Given the description of an element on the screen output the (x, y) to click on. 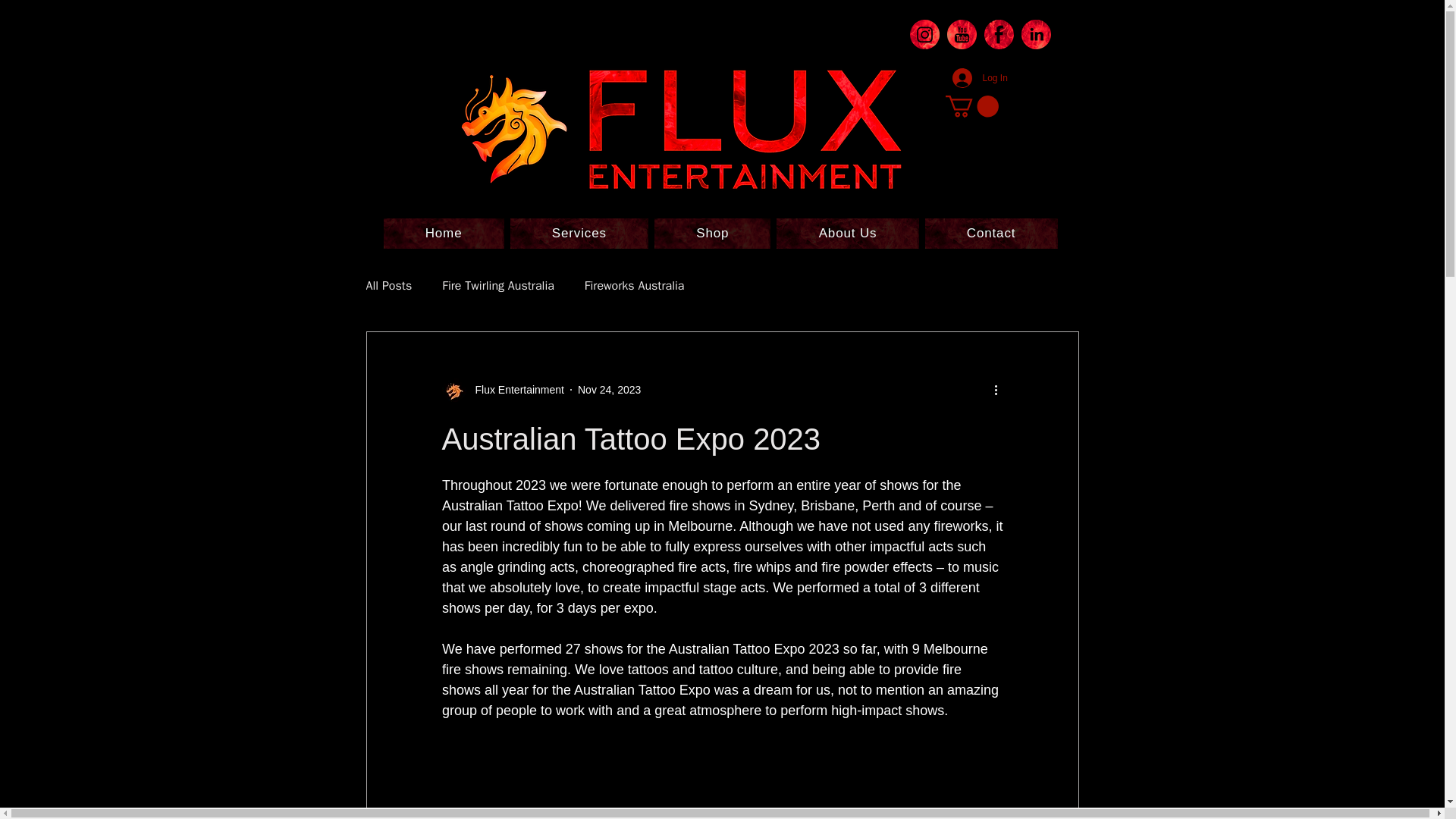
About Us (847, 233)
Log In (970, 77)
Fire Twirling Australia (498, 285)
Flux Entertainment (514, 390)
Shop (711, 233)
Fireworks Australia (634, 285)
Contact (991, 233)
Flux Entertainment (502, 389)
All Posts (388, 285)
Services (579, 233)
